Given the description of an element on the screen output the (x, y) to click on. 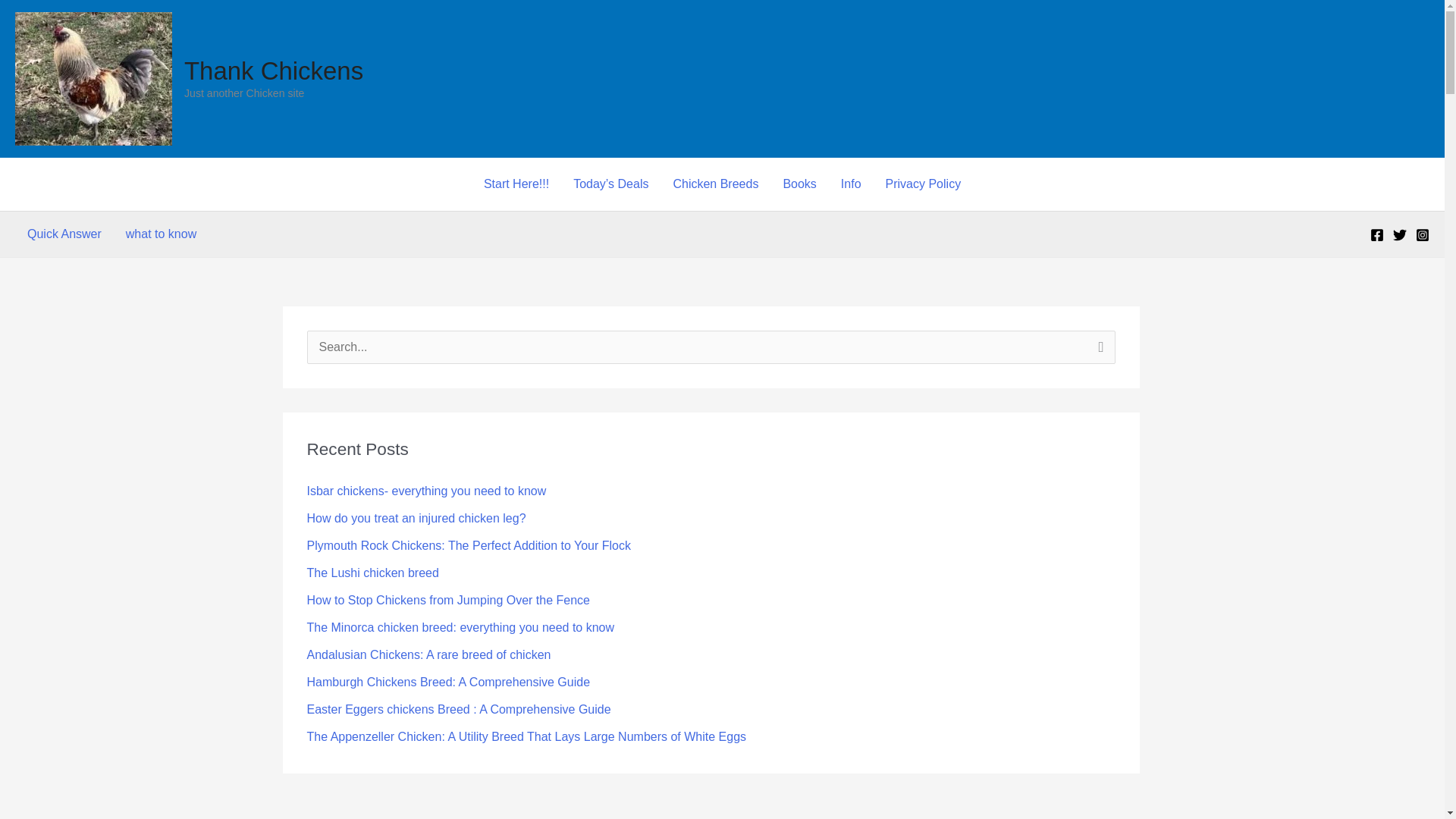
Chicken Breeds (715, 184)
Quick Answer (63, 234)
Privacy Policy (923, 184)
Books (799, 184)
Andalusian Chickens: A rare breed of chicken (427, 654)
How to Stop Chickens from Jumping Over the Fence (447, 599)
Isbar chickens- everything you need to know (425, 490)
The Lushi chicken breed (371, 572)
The Minorca chicken breed: everything you need to know (459, 626)
what to know (160, 234)
Start Here!!! (515, 184)
Easter Eggers chickens Breed : A Comprehensive Guide (457, 708)
Plymouth Rock Chickens: The Perfect Addition to Your Flock (467, 545)
Hamburgh Chickens Breed: A Comprehensive Guide (447, 681)
